Given the description of an element on the screen output the (x, y) to click on. 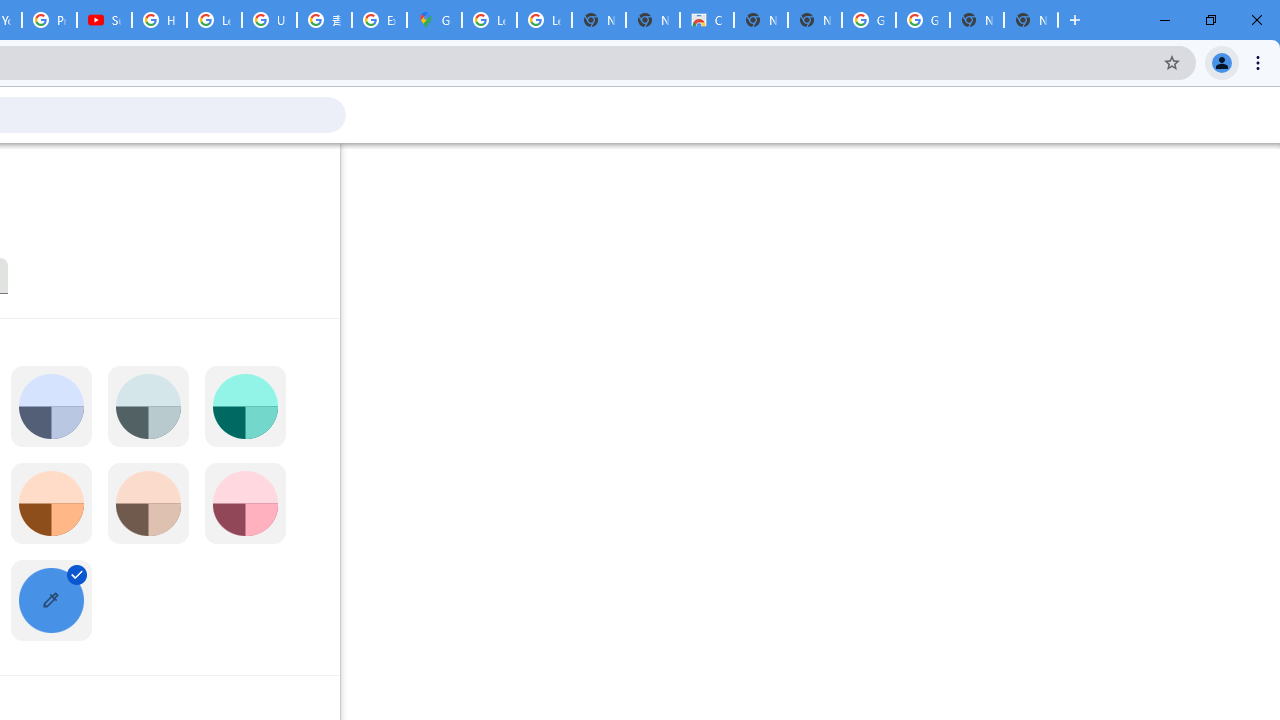
Subscriptions - YouTube (103, 20)
Explore new street-level details - Google Maps Help (379, 20)
